Given the description of an element on the screen output the (x, y) to click on. 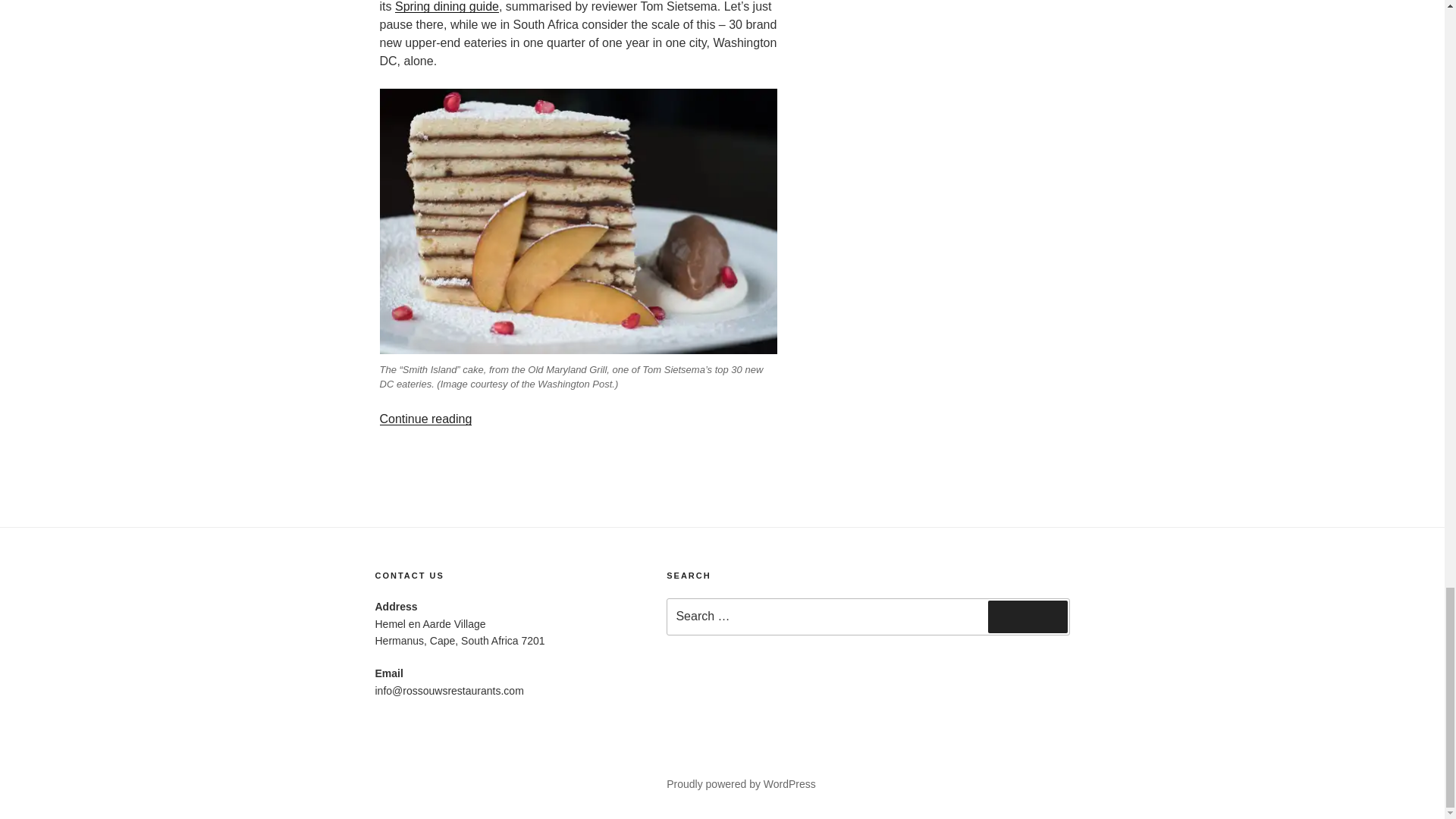
Spring dining guide (446, 6)
